Given the description of an element on the screen output the (x, y) to click on. 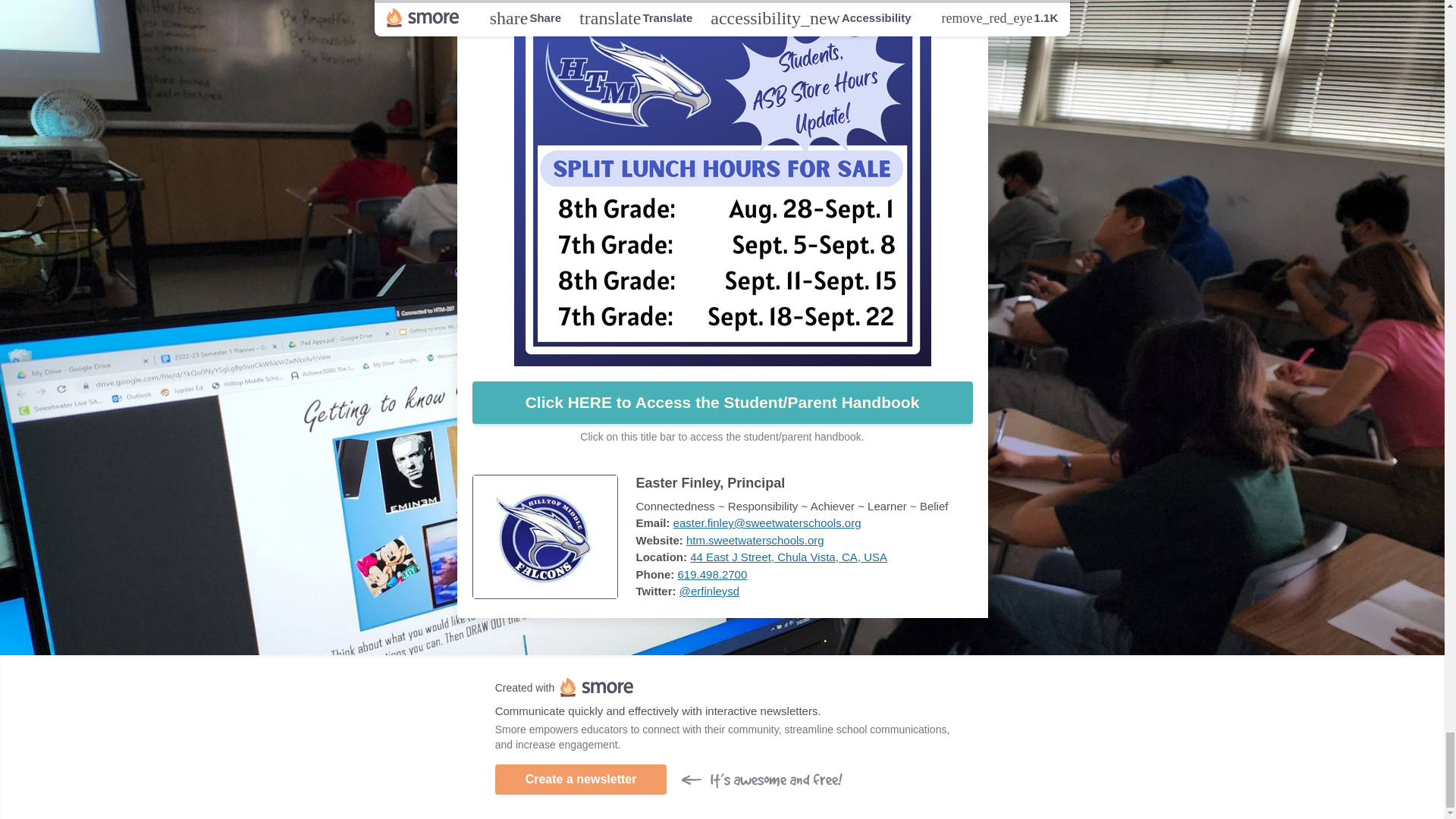
44 East J Street, Chula Vista, CA, USA (788, 556)
619.498.2700 (713, 574)
Create a newsletter (580, 779)
htm.sweetwaterschools.org (754, 540)
